Given the description of an element on the screen output the (x, y) to click on. 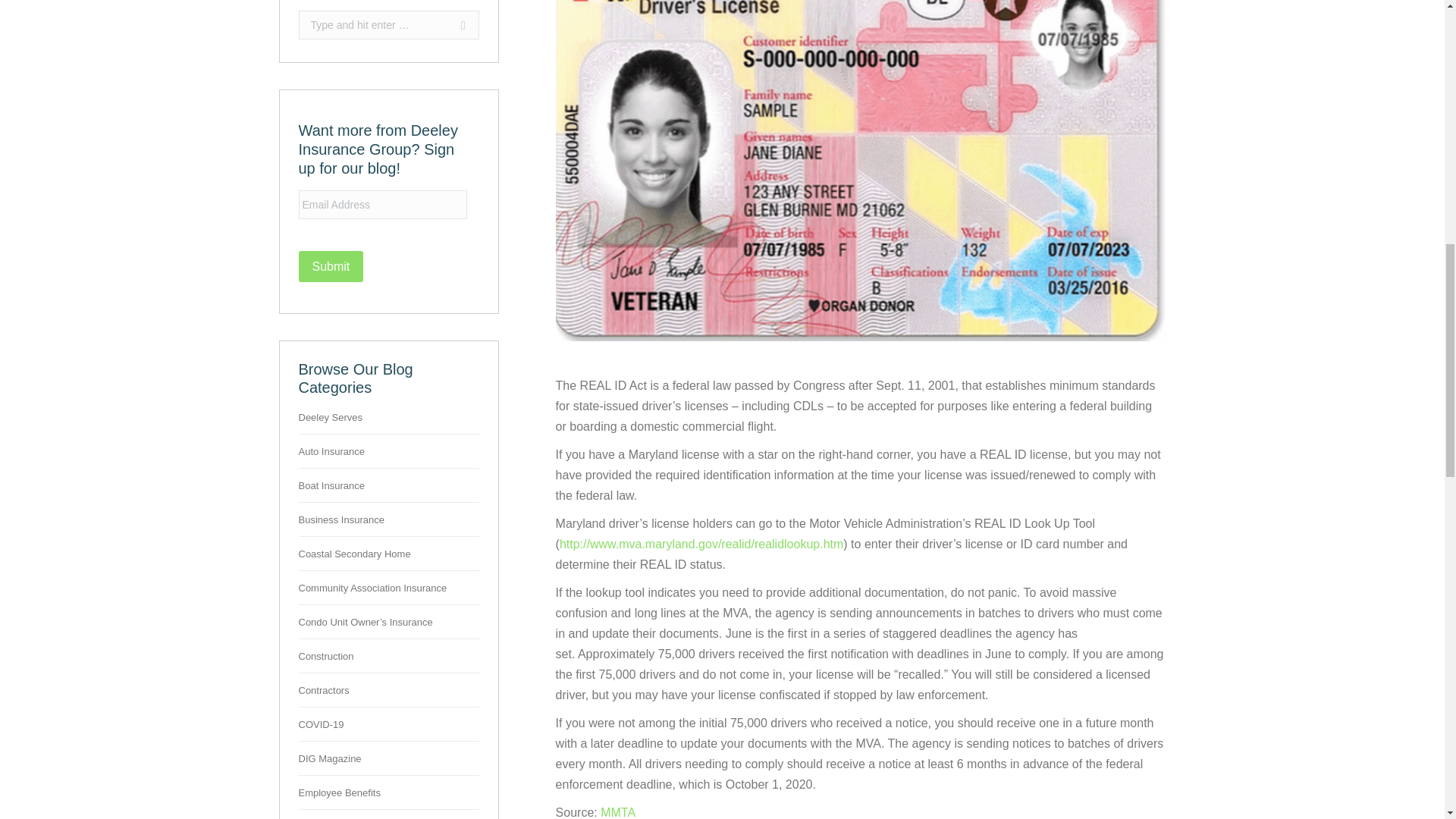
Go! (455, 24)
Go! (455, 24)
Submit (331, 265)
